Given the description of an element on the screen output the (x, y) to click on. 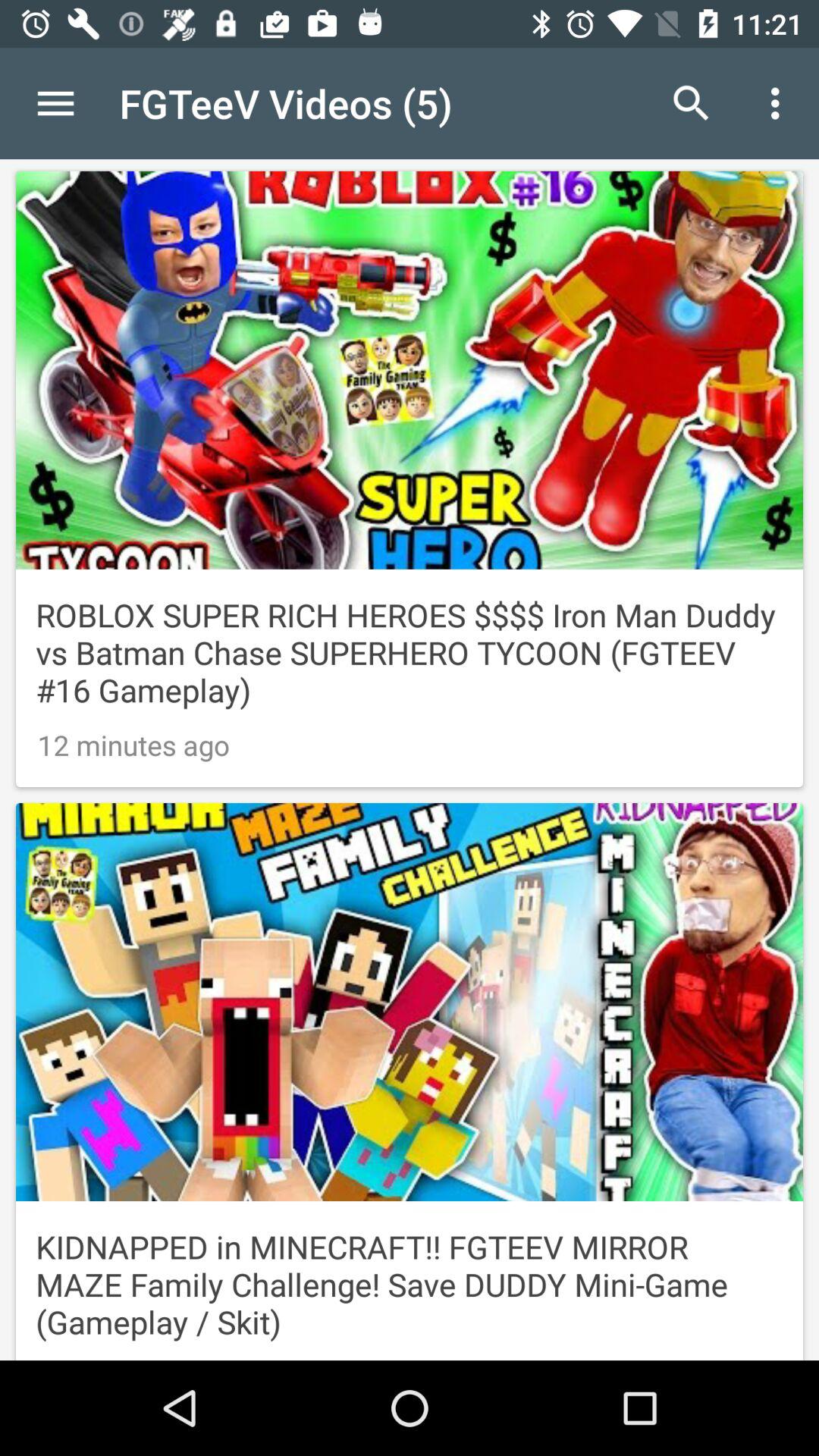
choose icon at the top left corner (55, 103)
